Given the description of an element on the screen output the (x, y) to click on. 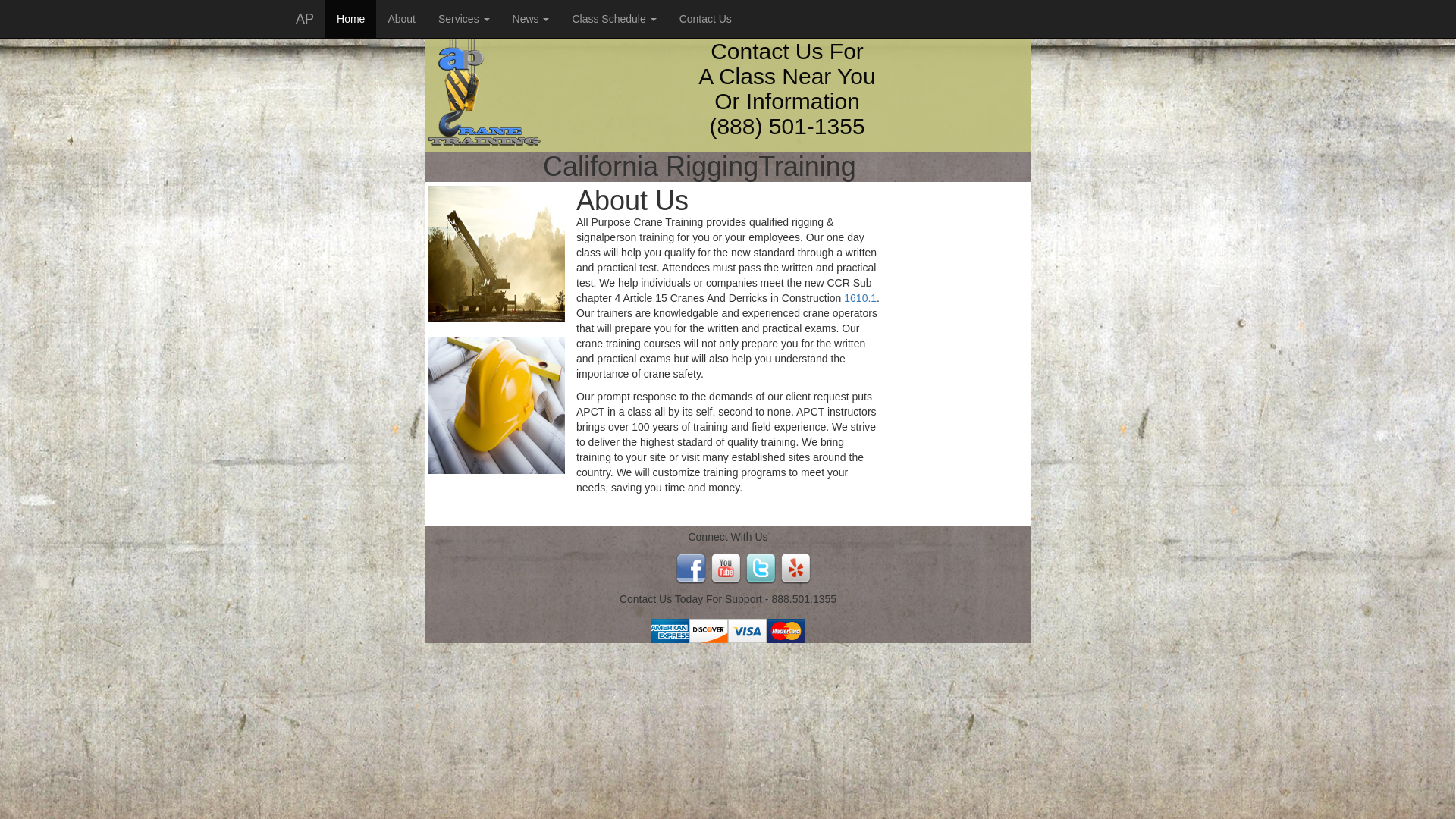
Contact Us (705, 18)
Services (463, 18)
News (530, 18)
Class Schedule (613, 18)
Home (349, 18)
1610.1 (860, 297)
About (400, 18)
AP (303, 18)
